Given the description of an element on the screen output the (x, y) to click on. 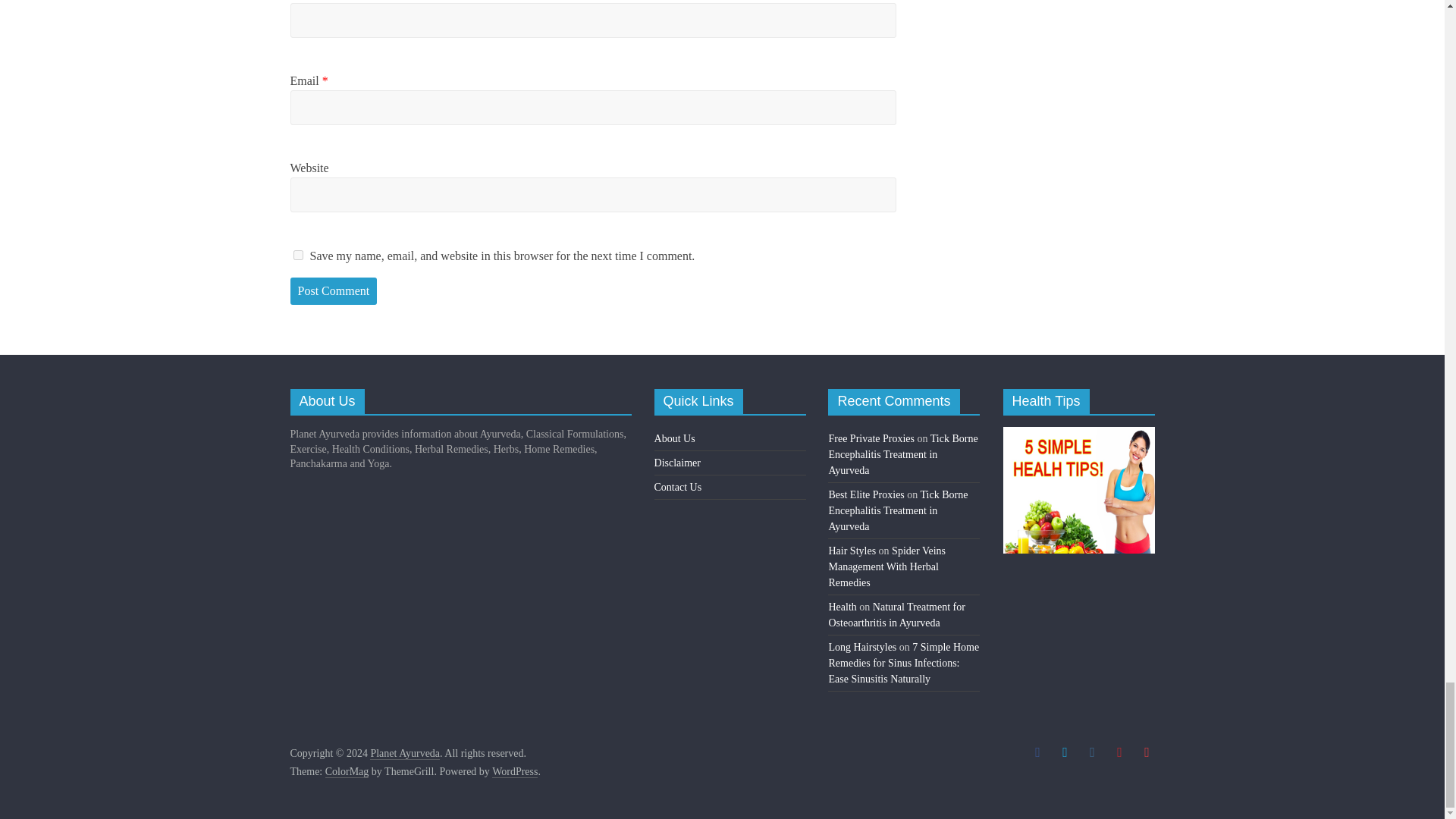
yes (297, 255)
Post Comment (333, 290)
